Given the description of an element on the screen output the (x, y) to click on. 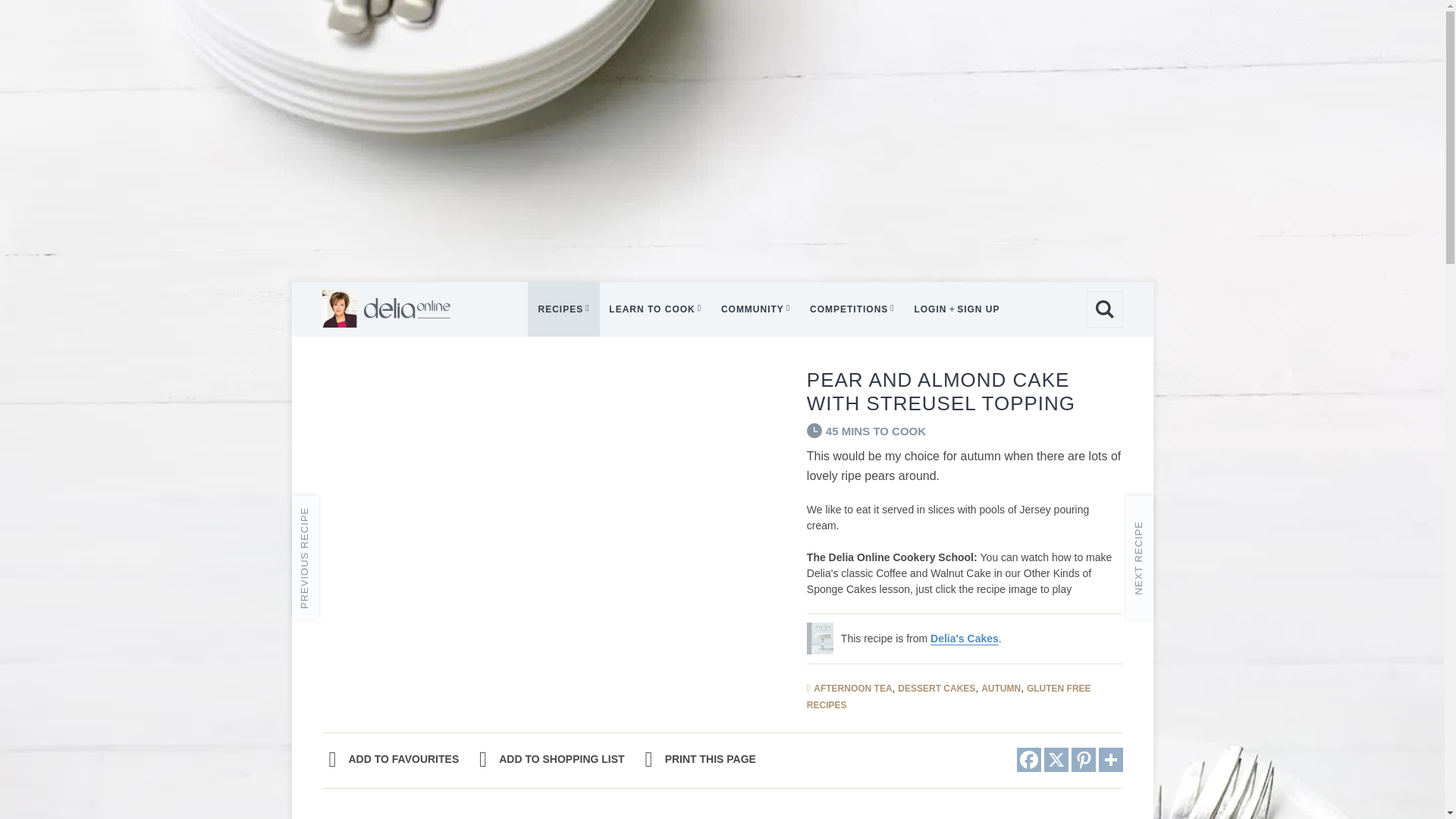
Skip to main content (789, 14)
